Given the description of an element on the screen output the (x, y) to click on. 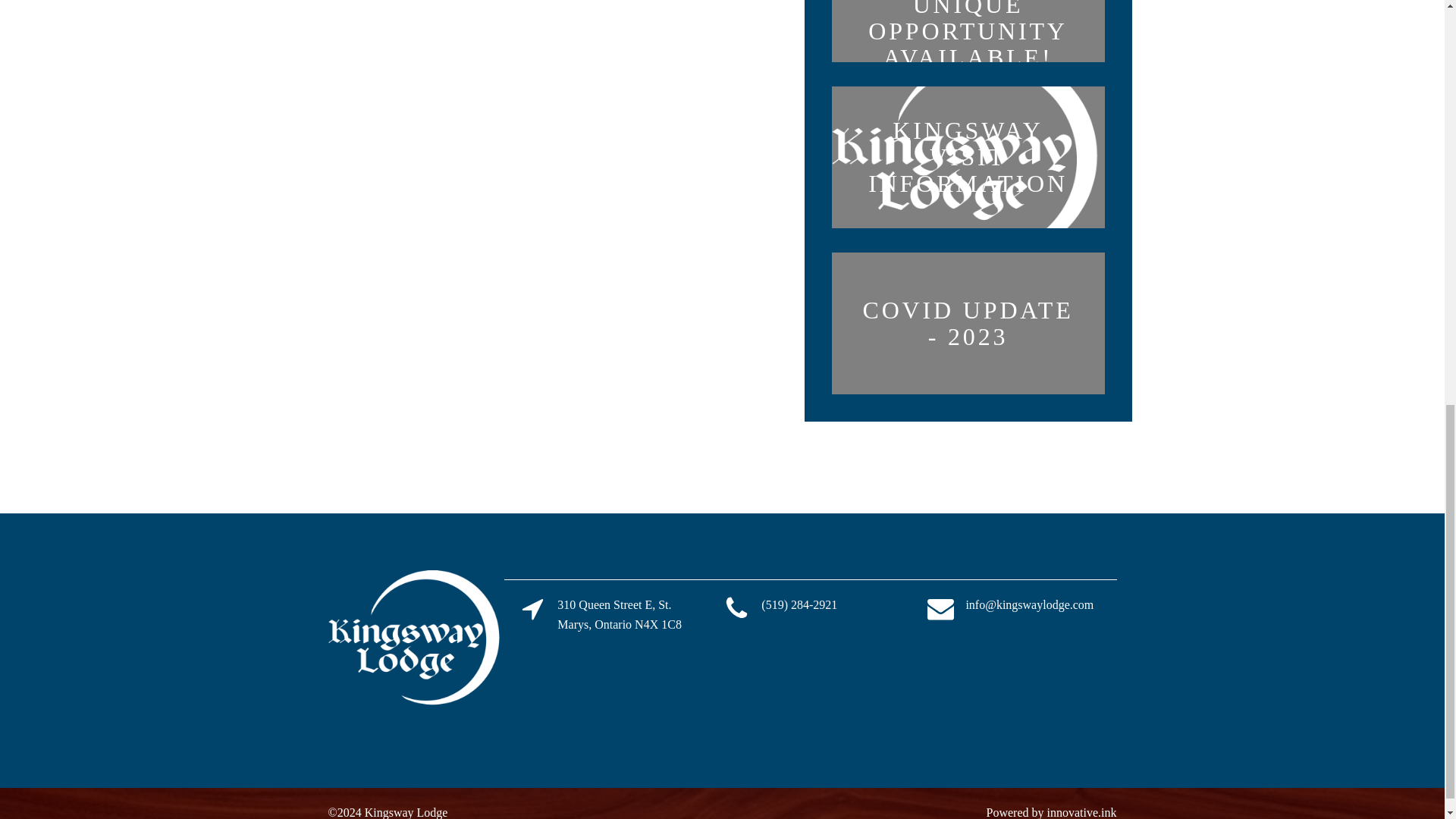
Powered by innovative.ink (1051, 811)
KINGSWAY VISIT INFORMATION (967, 157)
ATTENTION ALL HAIRSTYLIST UNIQUE OPPORTUNITY AVAILABLE! (967, 37)
310 Queen Street E, St. Marys, Ontario N4X 1C8 (625, 614)
COVID UPDATE - 2023 (967, 323)
